Given the description of an element on the screen output the (x, y) to click on. 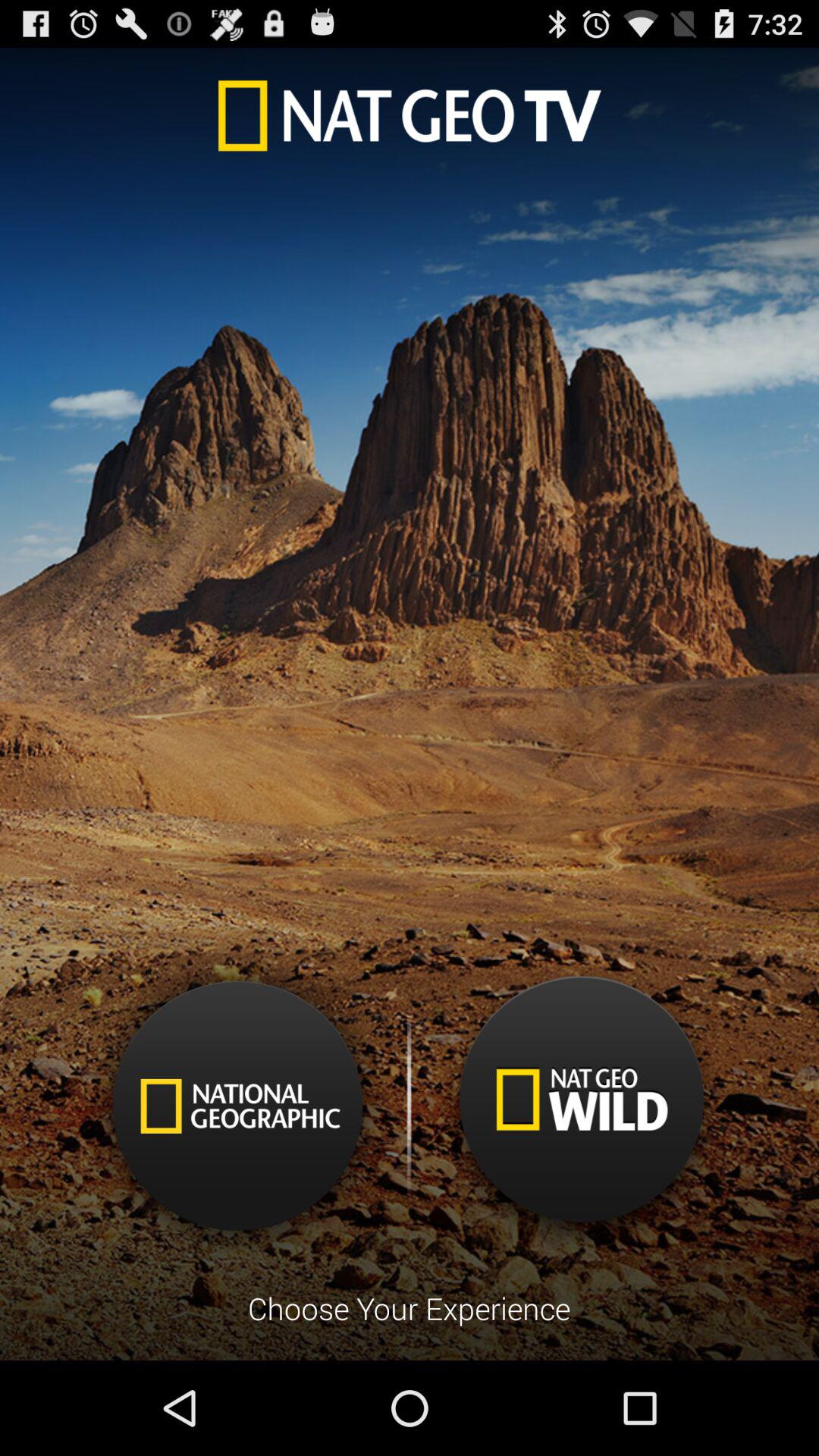
go to nat geo wild (581, 1111)
